Given the description of an element on the screen output the (x, y) to click on. 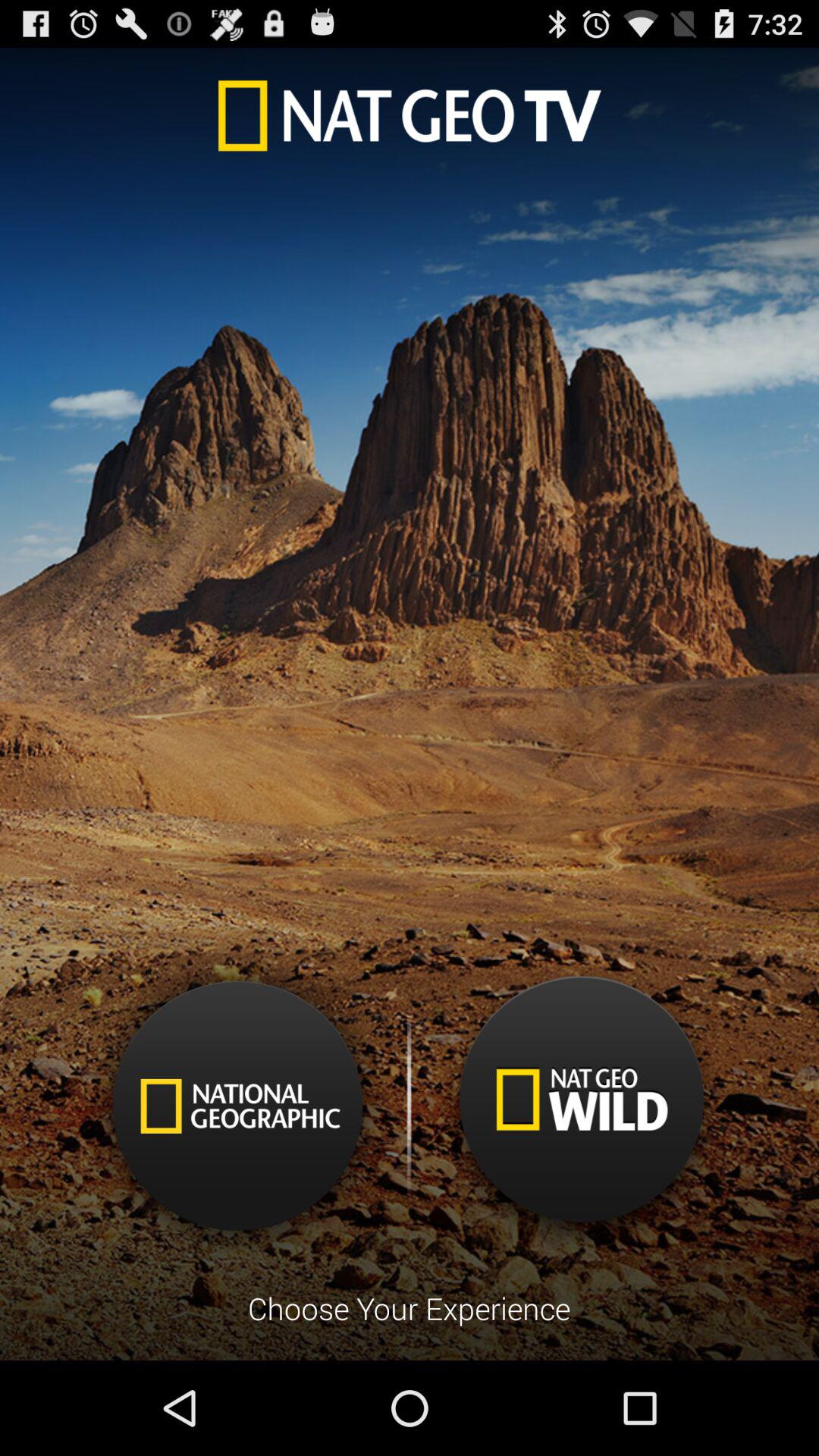
go to nat geo wild (581, 1111)
